Given the description of an element on the screen output the (x, y) to click on. 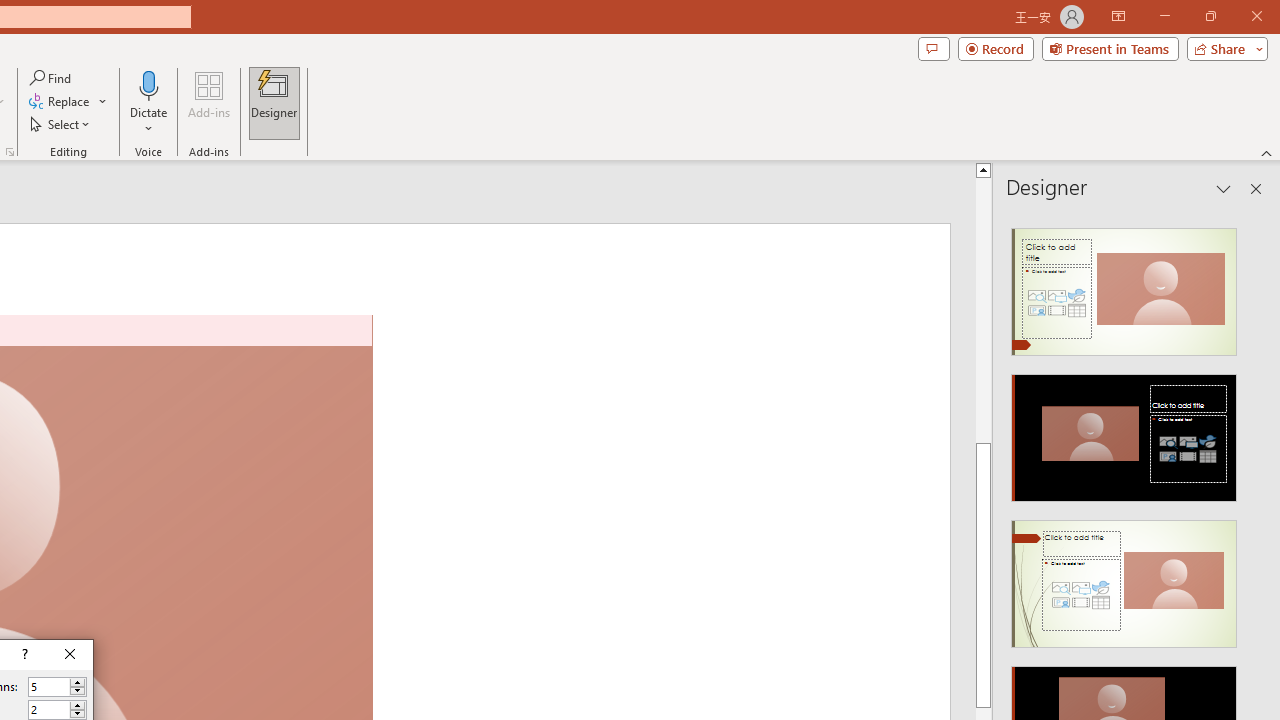
Number of columns (49, 687)
